Given the description of an element on the screen output the (x, y) to click on. 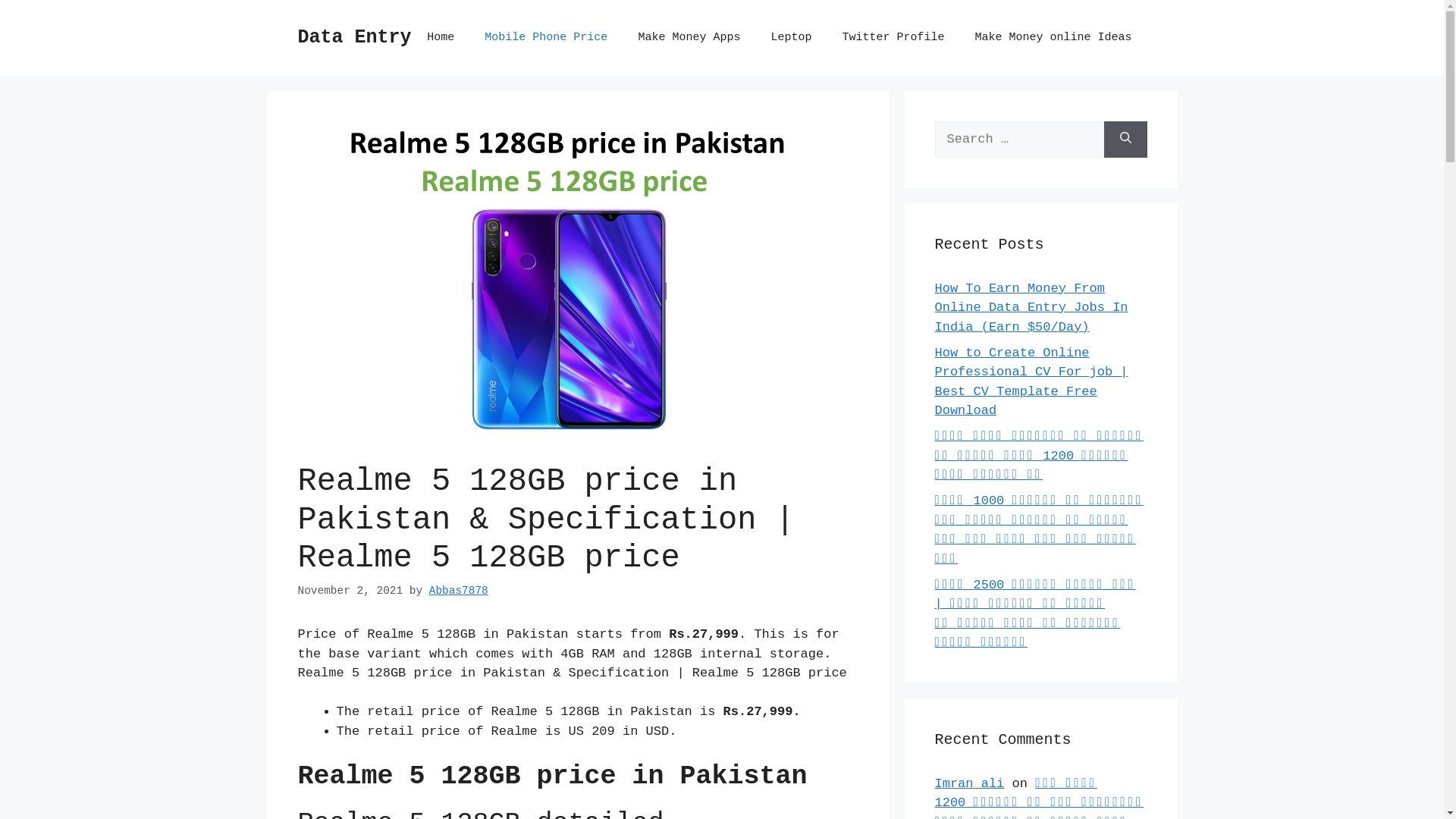
Leptop Element type: text (790, 37)
Twitter Profile Element type: text (892, 37)
Mobile Phone Price Element type: text (545, 37)
Imran ali Element type: text (969, 783)
Make Money online Ideas Element type: text (1052, 37)
Abbas7878 Element type: text (458, 590)
Data Entry Element type: text (354, 37)
Make Money Apps Element type: text (688, 37)
Home Element type: text (440, 37)
Search for: Element type: hover (1018, 139)
